Given the description of an element on the screen output the (x, y) to click on. 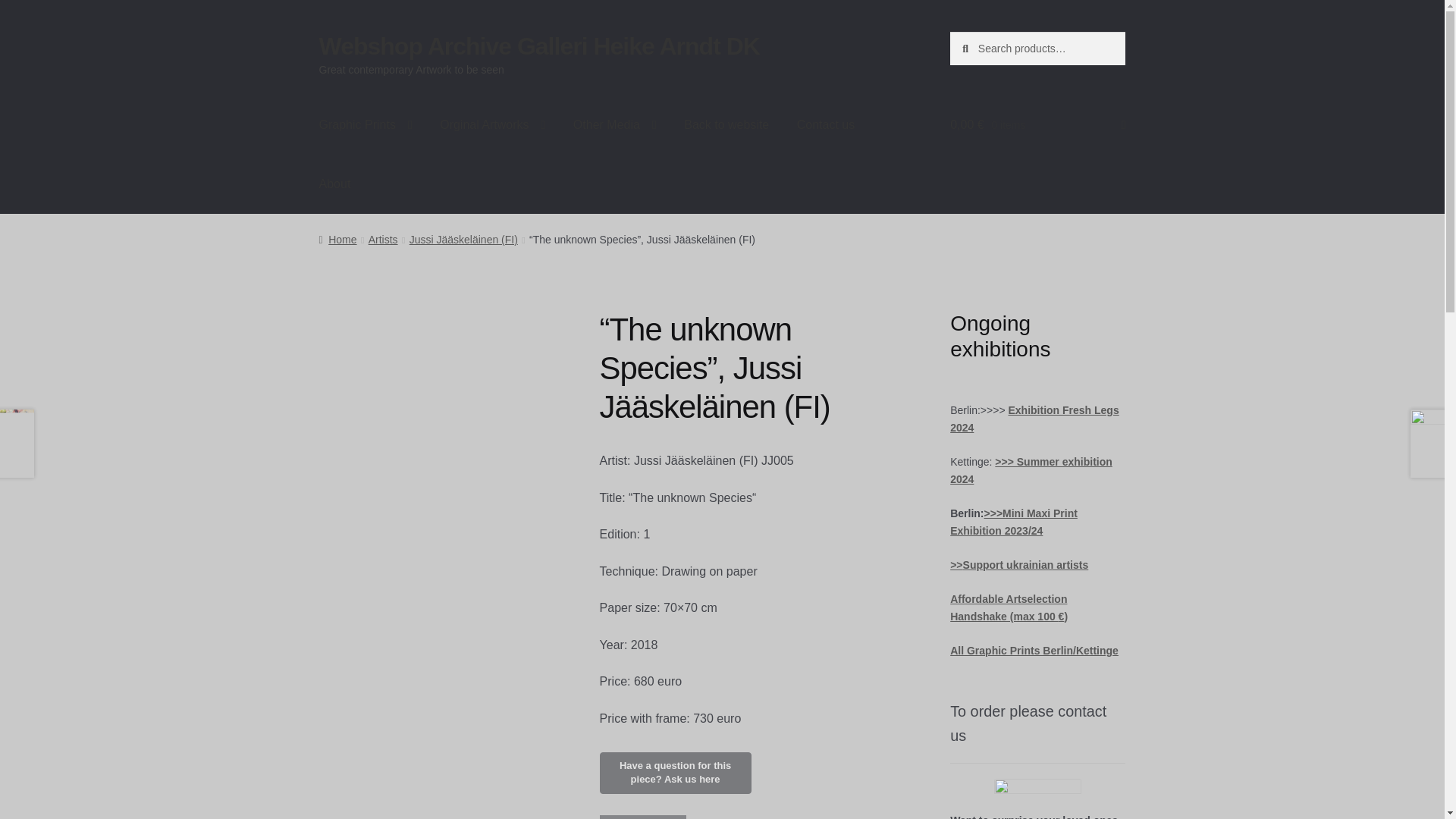
Webshop Archive Galleri Heike Arndt DK (539, 45)
Graphic Prints (366, 124)
Contact us (825, 124)
Orginal Artworks (492, 124)
About (334, 183)
Back to website (725, 124)
Have a question for this piece? Ask us here (675, 772)
View your shopping cart (1037, 124)
Other Media (614, 124)
